Given the description of an element on the screen output the (x, y) to click on. 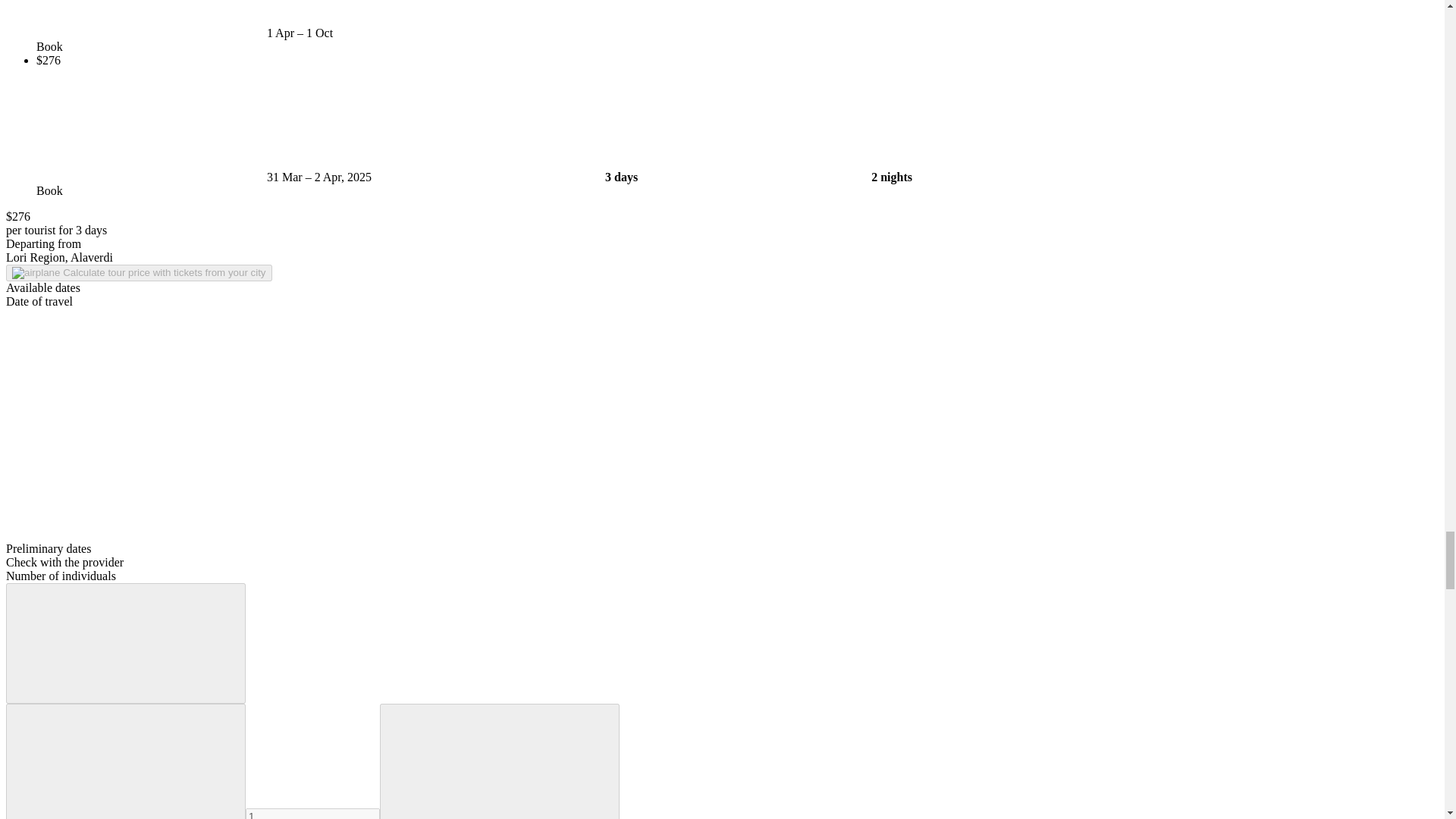
1 (313, 813)
